Given the description of an element on the screen output the (x, y) to click on. 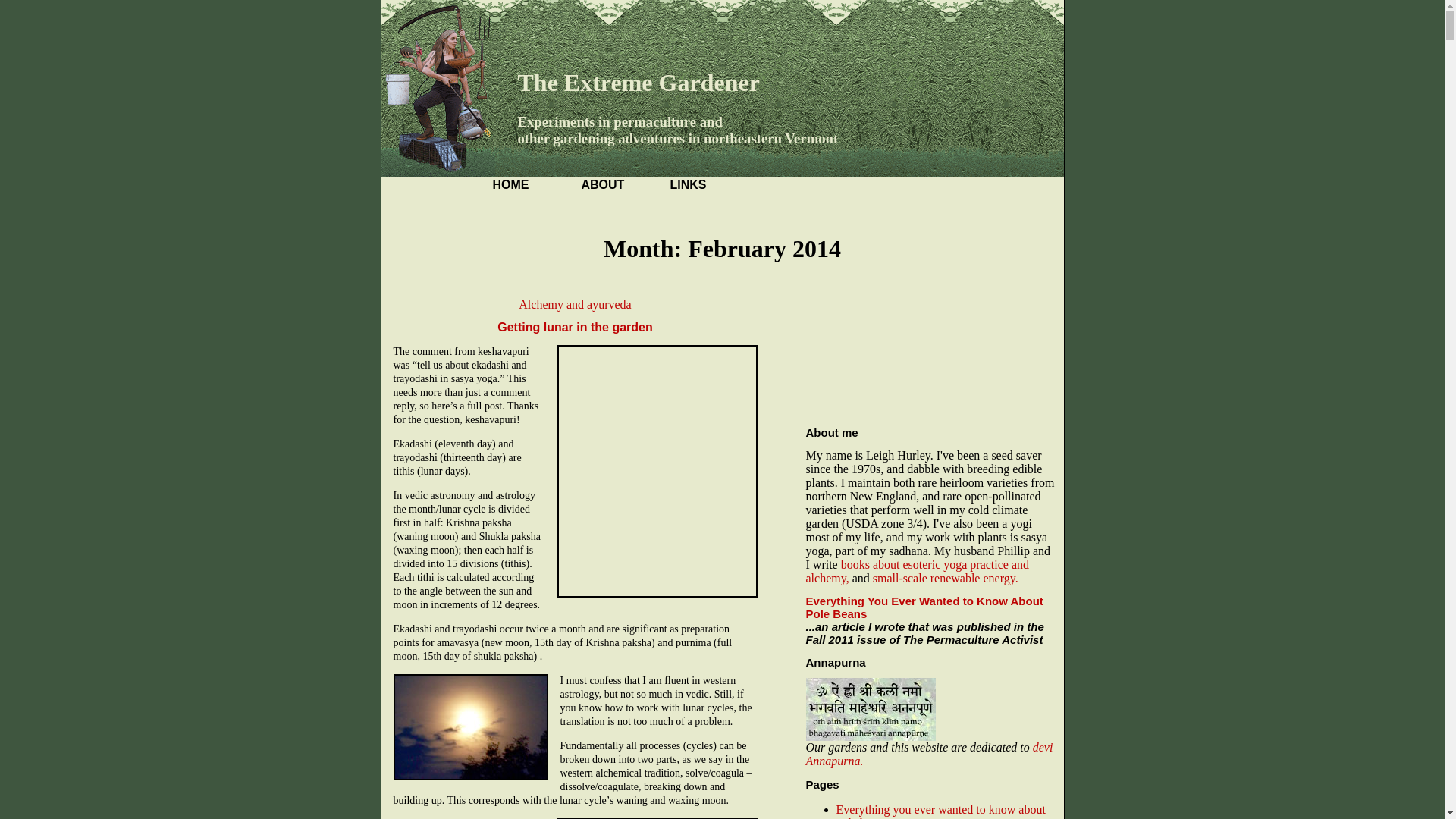
ABOUT (602, 184)
Alchemy and ayurveda (574, 304)
Everything you ever wanted to know about pole beans (940, 810)
Getting lunar in the garden (574, 327)
Everything You Ever Wanted to Know About Pole Beans (923, 606)
LINKS (687, 184)
books about esoteric yoga practice and alchemy, (917, 570)
small-scale renewable energy. (944, 577)
HOME (511, 184)
devi Annapurna. (928, 754)
